Given the description of an element on the screen output the (x, y) to click on. 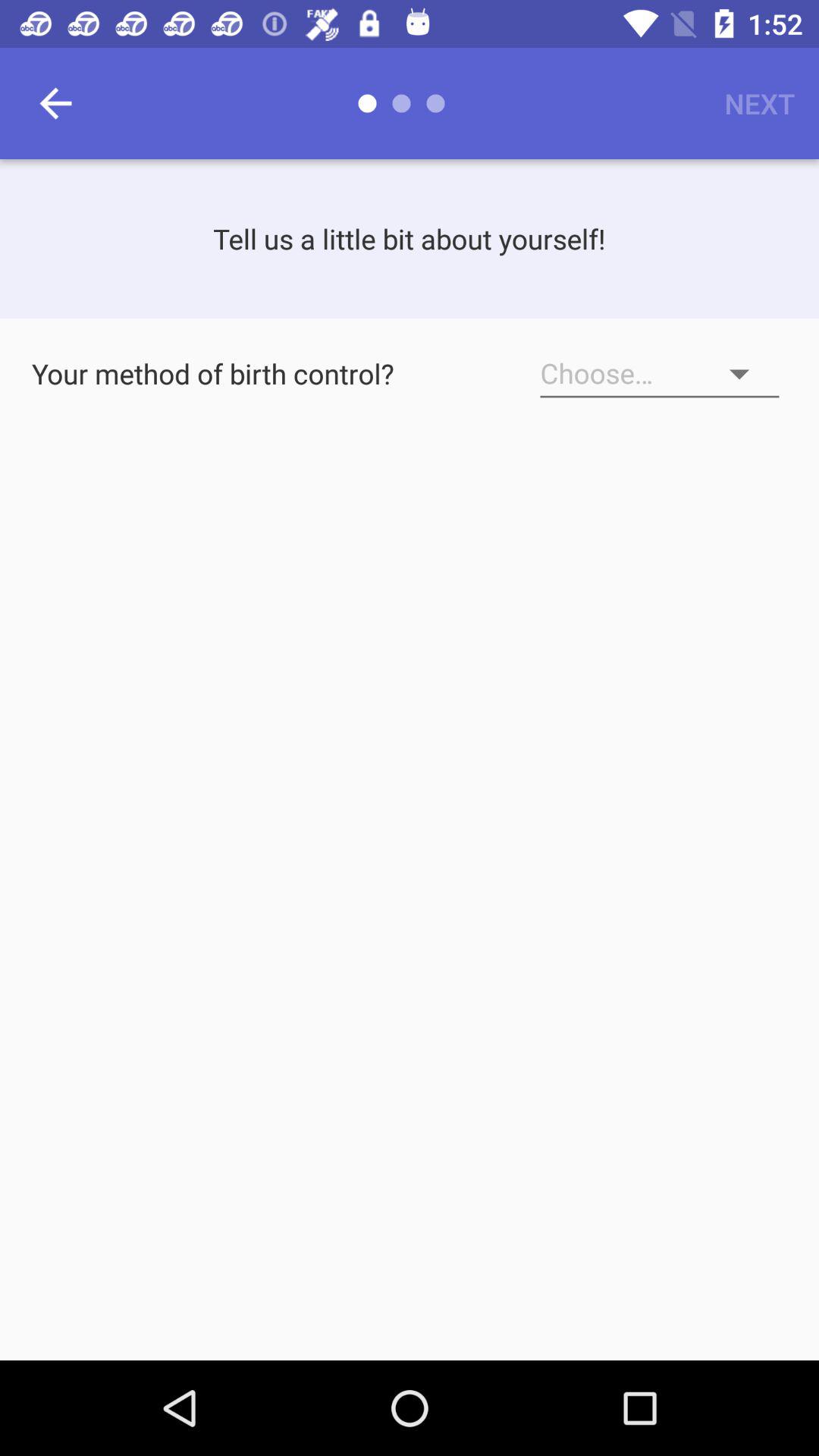
drop down box to choose your method of birth control (659, 373)
